Given the description of an element on the screen output the (x, y) to click on. 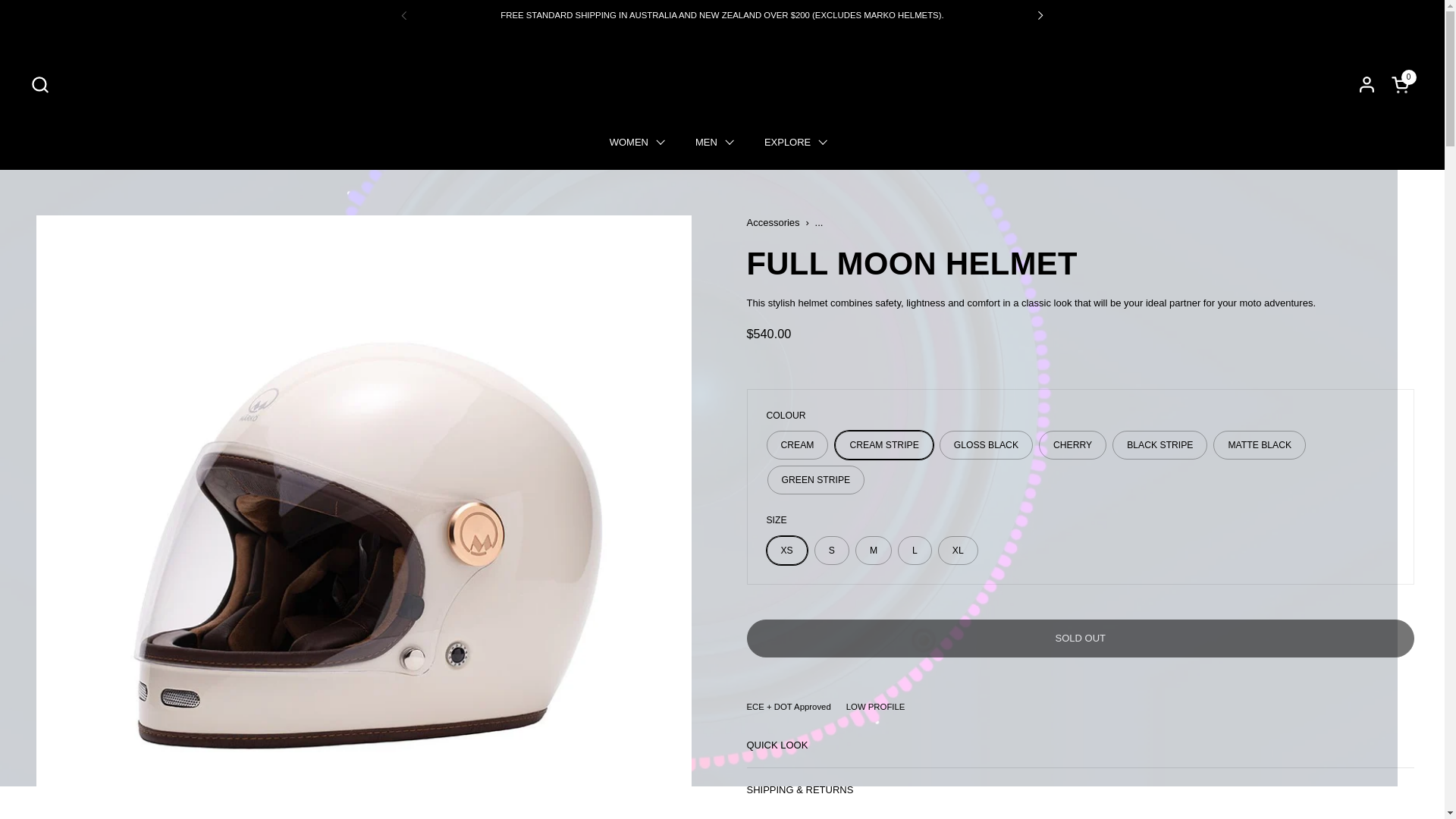
Open cart (1402, 83)
Open search (39, 83)
MEN (1402, 83)
WOMEN (714, 142)
